Given the description of an element on the screen output the (x, y) to click on. 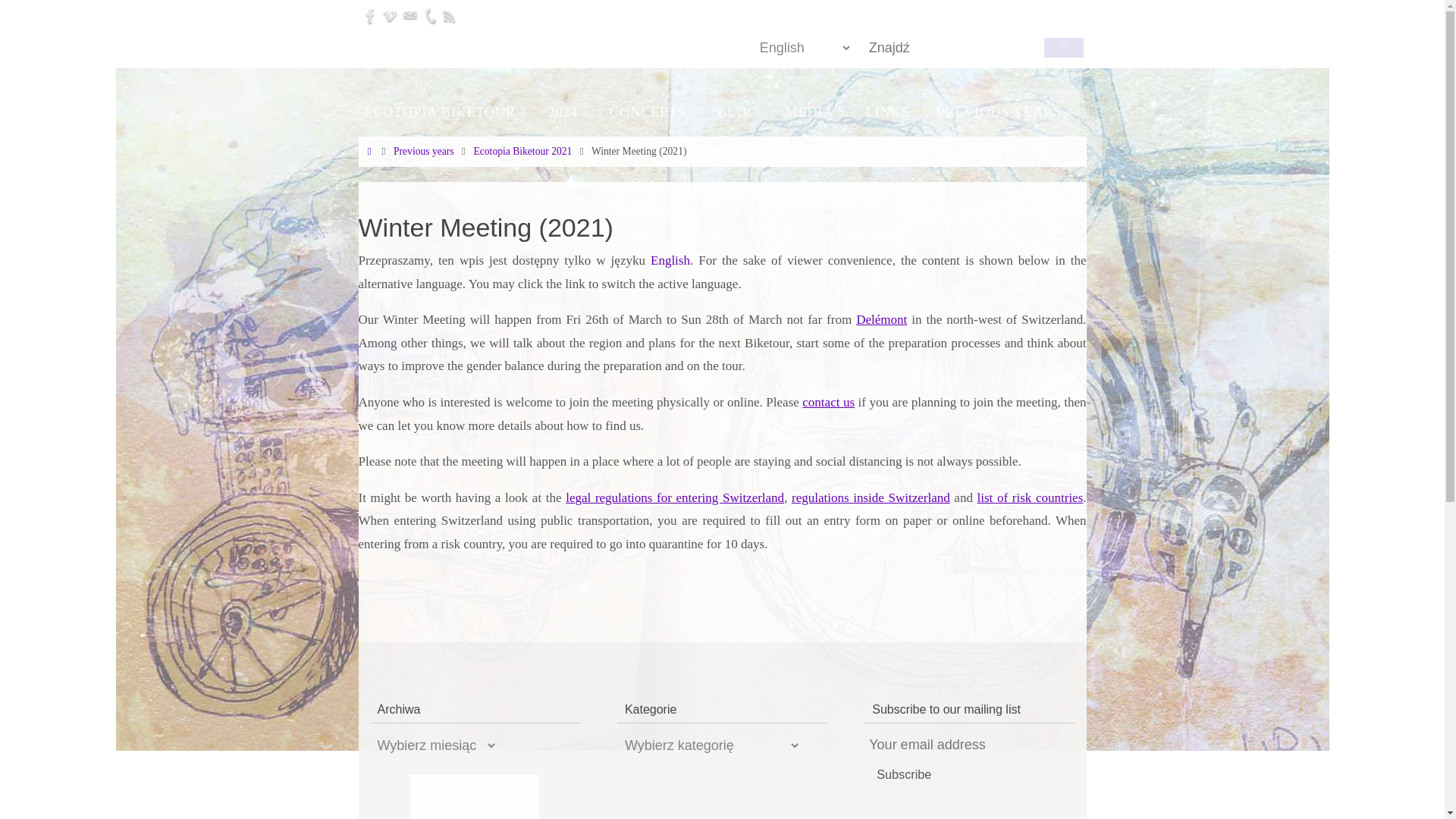
Mail (409, 15)
Vimeo (389, 15)
Phone (428, 15)
RSS (448, 15)
Ecotopia Biketour (361, 43)
Subscribe (903, 774)
Facebook (369, 15)
ECOTOPIA BIKETOUR (442, 112)
